Given the description of an element on the screen output the (x, y) to click on. 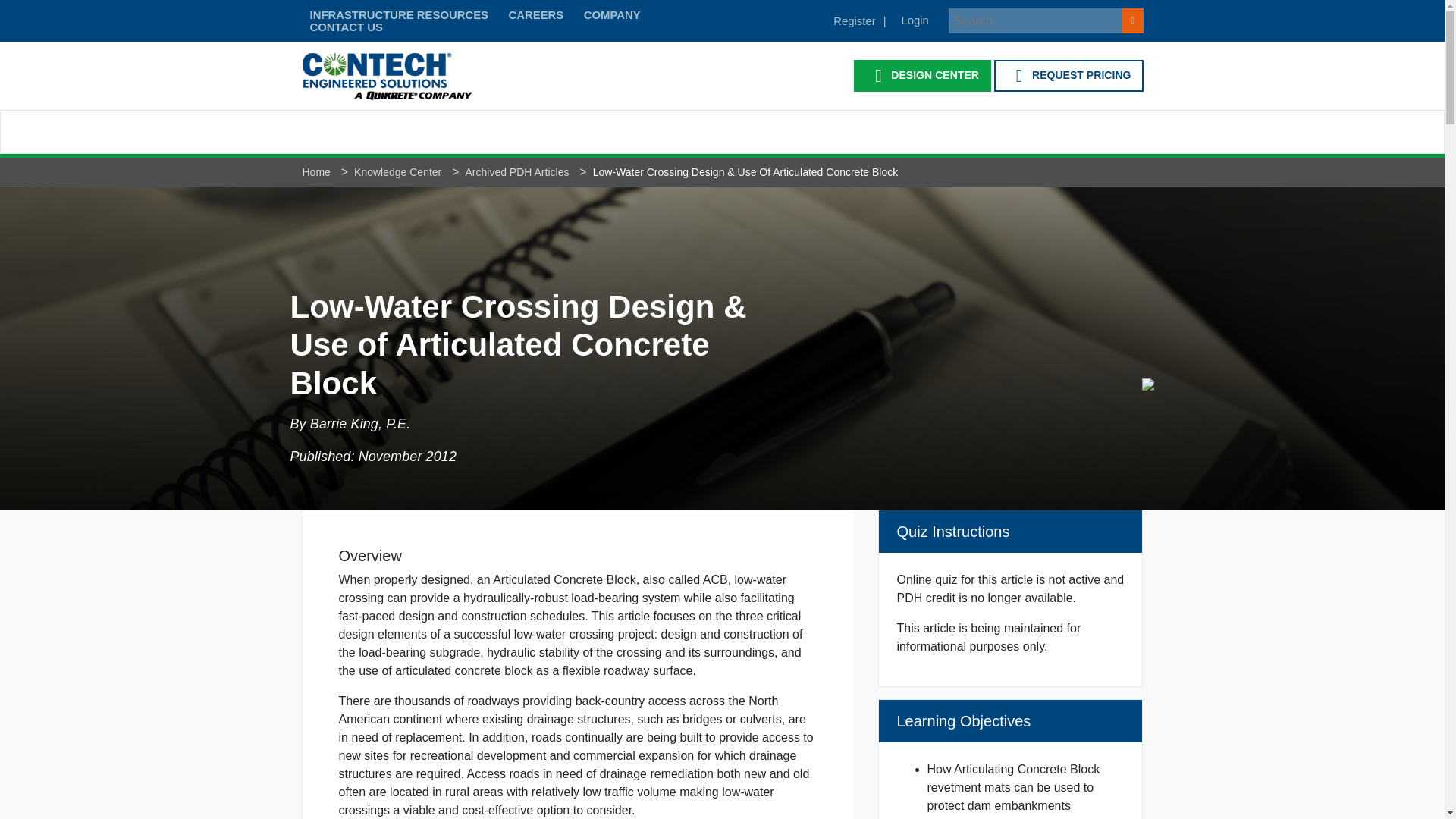
Login (914, 20)
CONTACT US (346, 27)
INFRASTRUCTURE RESOURCES (399, 15)
Contech Engineered Solutions (386, 75)
Register (858, 20)
CAREERS (535, 15)
COMPANY (612, 15)
Register (858, 20)
Login (914, 20)
